Given the description of an element on the screen output the (x, y) to click on. 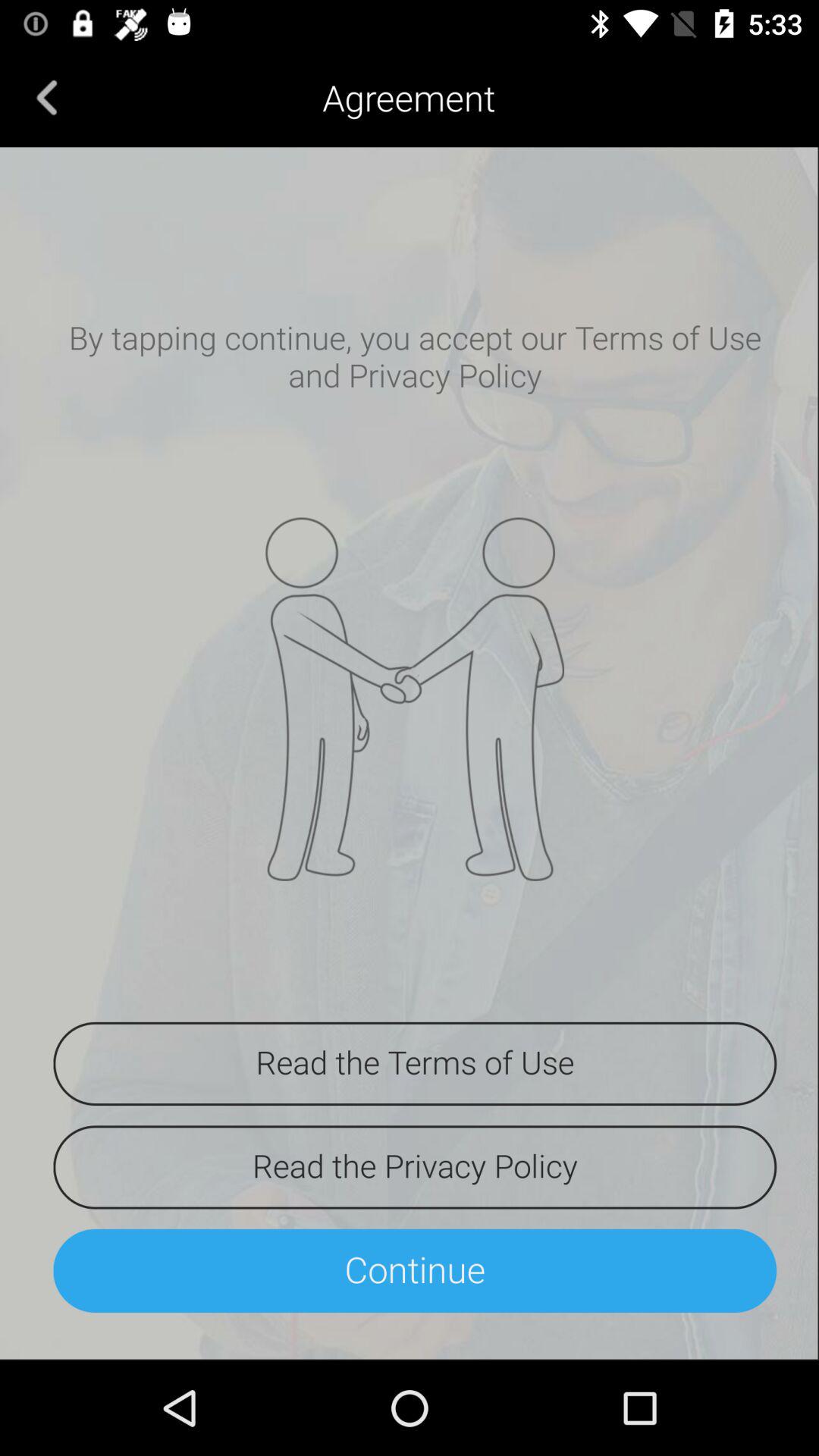
press item at the top left corner (47, 97)
